Given the description of an element on the screen output the (x, y) to click on. 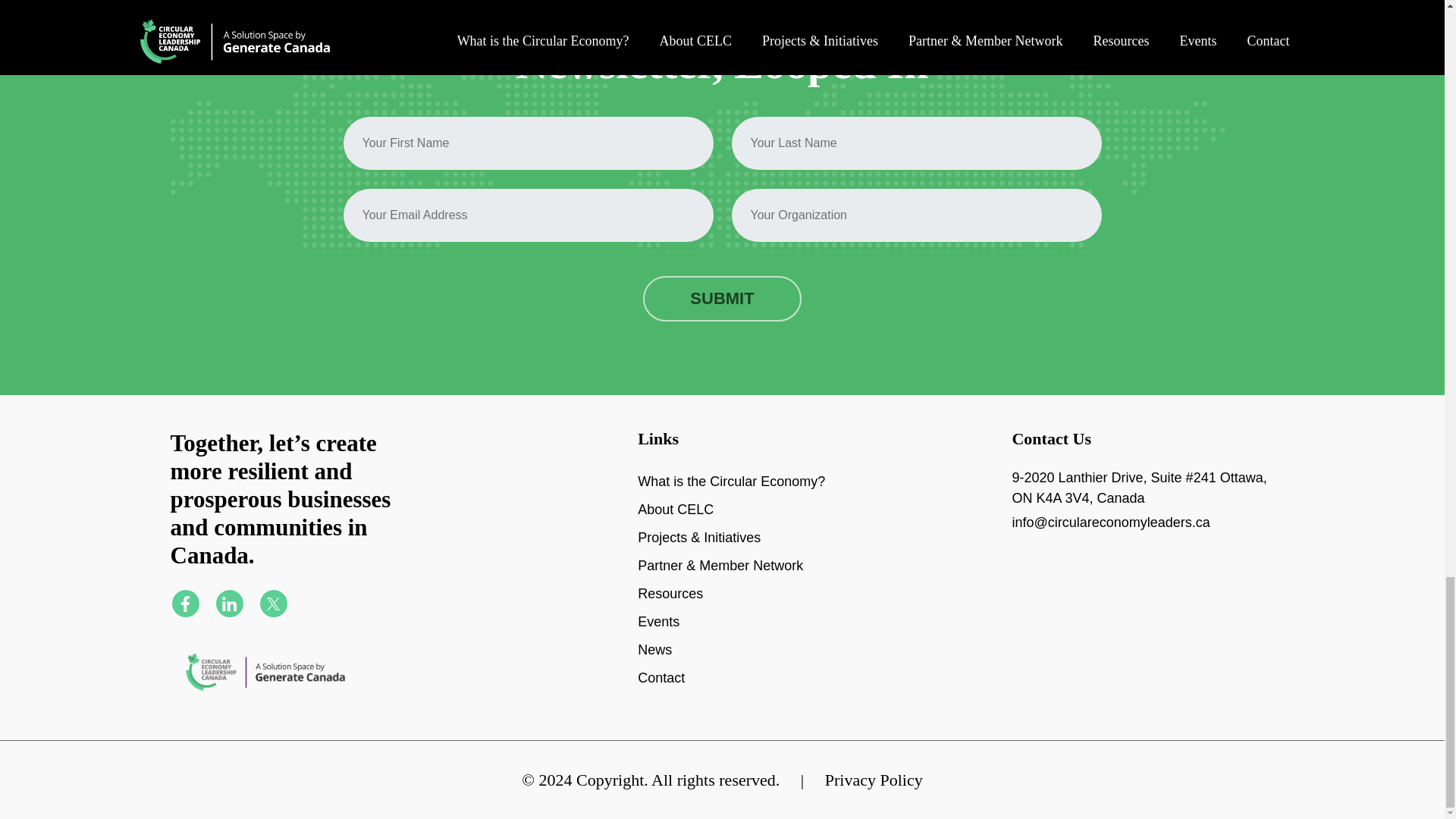
About CELC (675, 523)
Submit (721, 336)
Events (658, 635)
Submit (721, 336)
News (654, 664)
Privacy Policy (874, 779)
Contact (660, 691)
What is the Circular Economy? (731, 495)
Resources (670, 607)
